Given the description of an element on the screen output the (x, y) to click on. 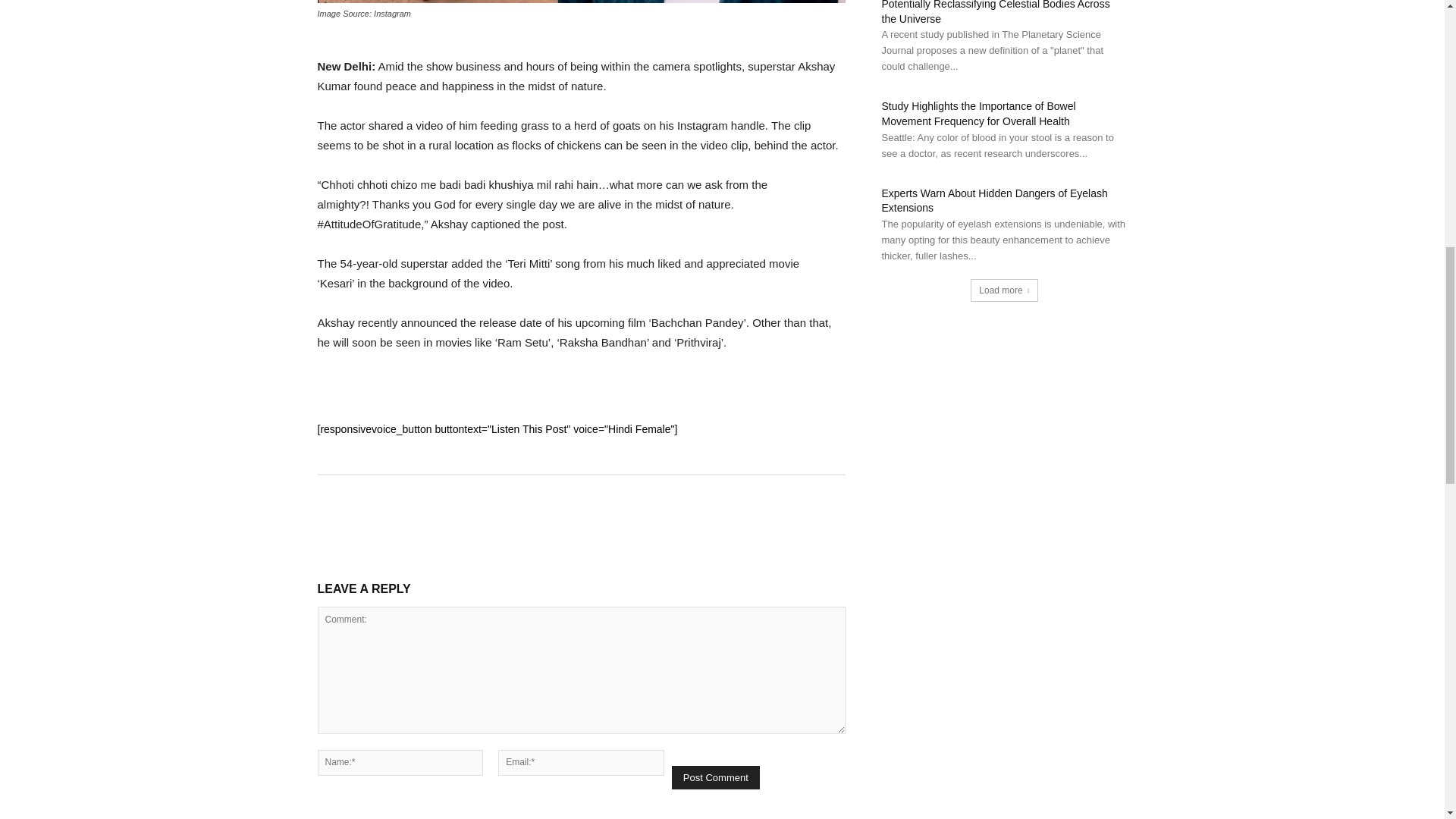
Post Comment (715, 777)
